Given the description of an element on the screen output the (x, y) to click on. 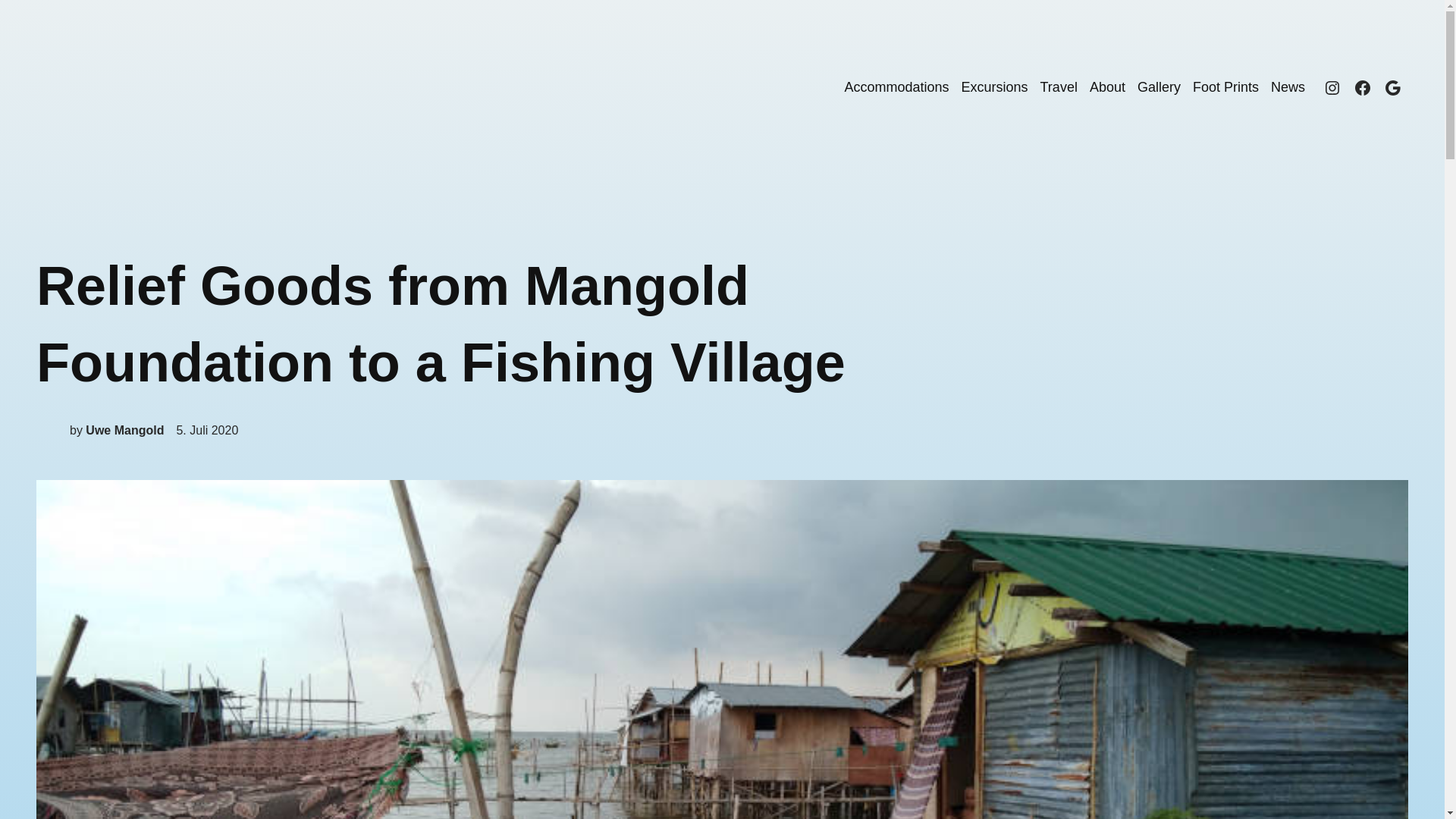
Foot Prints (1225, 87)
Facebook (1362, 87)
About (1107, 87)
News (1287, 87)
Folge uns auf Instagram (1332, 87)
Travel (1059, 87)
Gallery (1158, 87)
Excursions (993, 87)
Accommodations (896, 87)
Google (1392, 87)
